Given the description of an element on the screen output the (x, y) to click on. 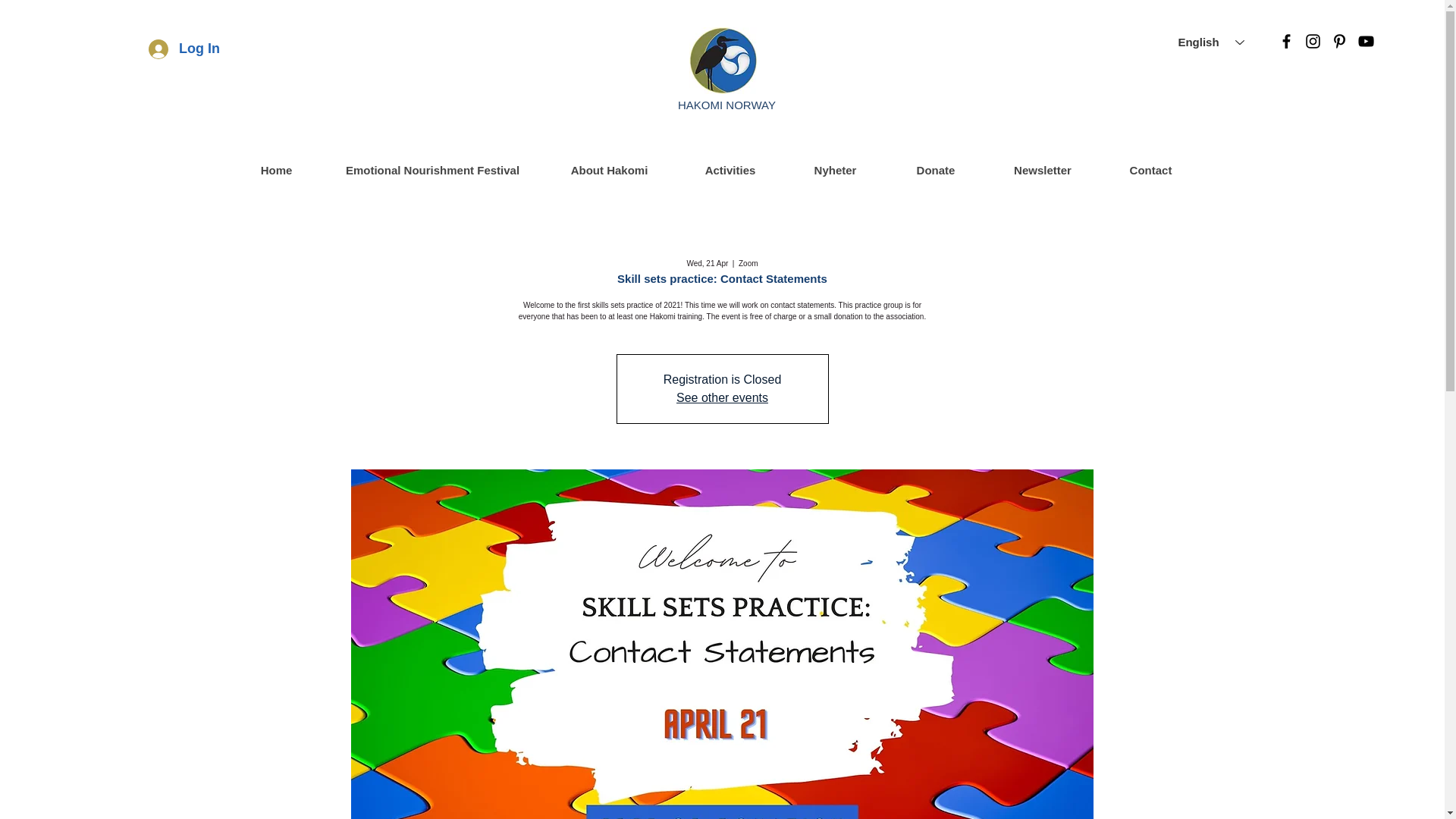
See other events (722, 397)
Newsletter (1041, 169)
Donate (934, 169)
HAKOMI NORWAY (726, 116)
Activities (730, 169)
Contact (1149, 169)
About Hakomi (608, 169)
Log In (184, 49)
Emotional Nourishment Festival (432, 169)
Nyheter (835, 169)
